Given the description of an element on the screen output the (x, y) to click on. 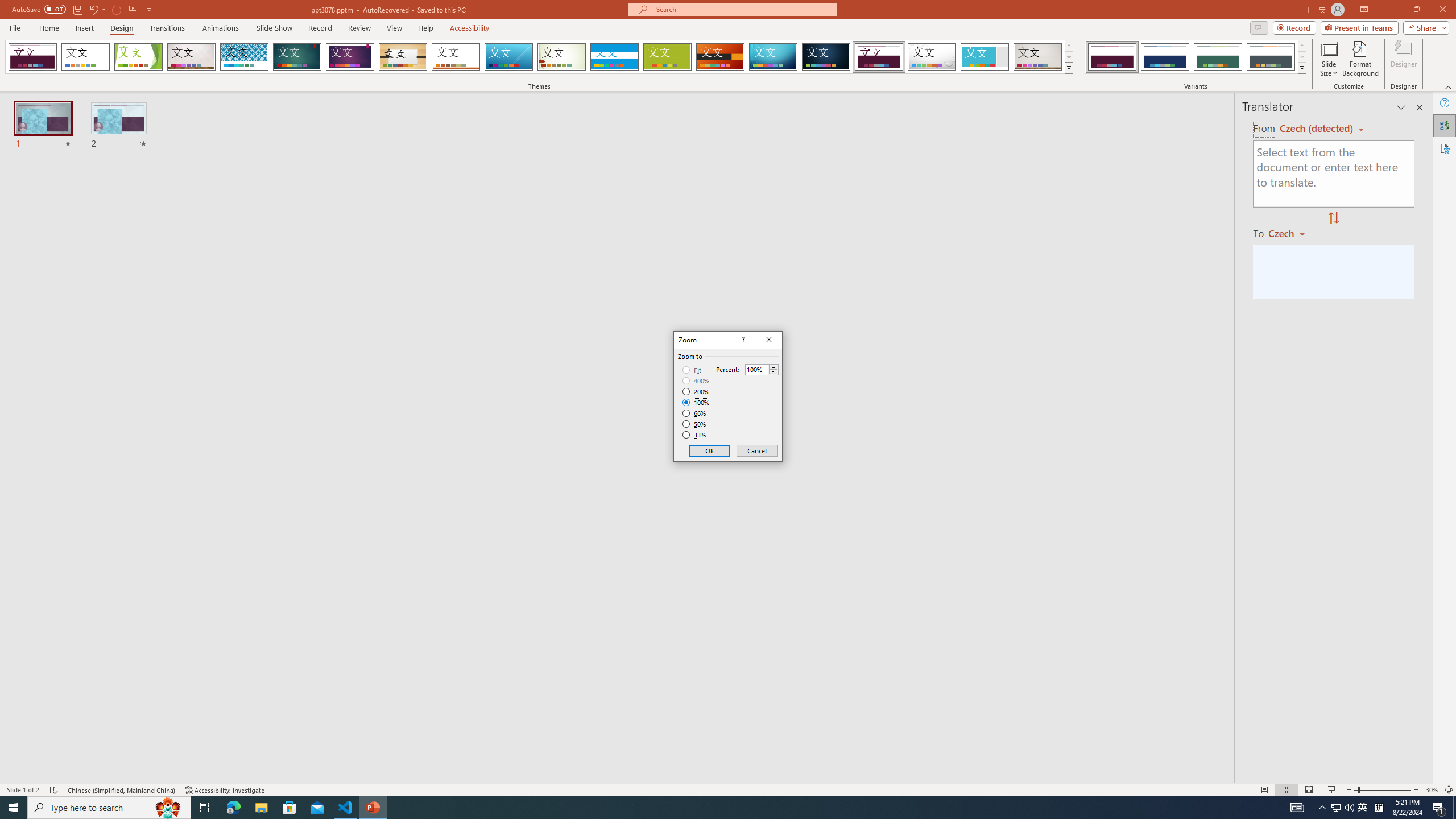
Designer (1403, 58)
Slice (508, 56)
AutomationID: SlideThemesGallery (539, 56)
Dividend Variant 2 (1164, 56)
Retrospect (455, 56)
Accessibility (1444, 147)
System (6, 6)
Minimize (1390, 9)
Review (359, 28)
AutomationID: 4105 (1297, 807)
Restore Down (1416, 9)
Task Pane Options (1400, 107)
Class: NetUIImage (1302, 68)
Zoom In (1415, 790)
